Given the description of an element on the screen output the (x, y) to click on. 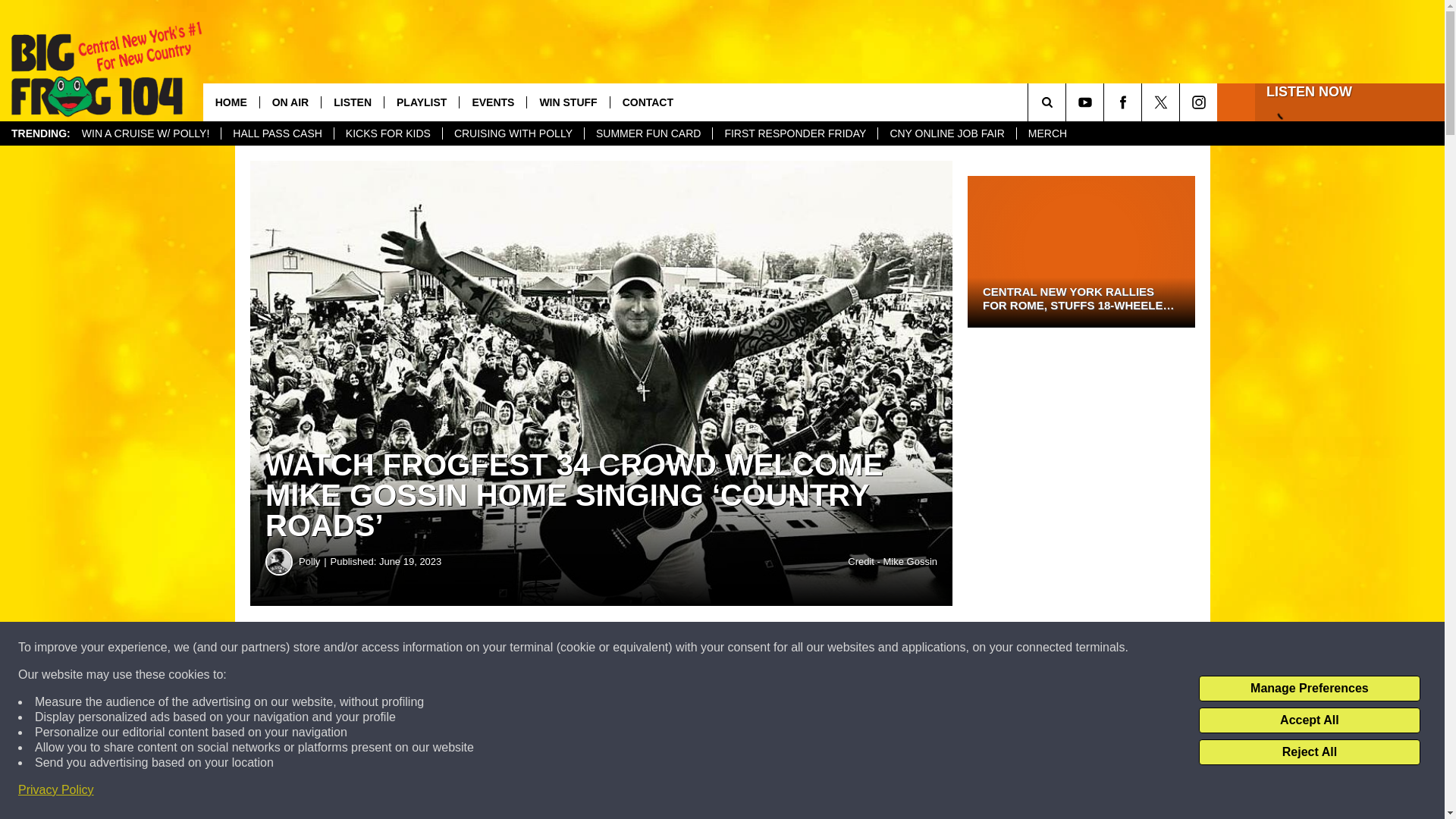
CRUISING WITH POLLY (512, 133)
Manage Preferences (1309, 688)
Privacy Policy (55, 789)
PLAYLIST (421, 102)
Accept All (1309, 720)
Share on Twitter (741, 647)
SEARCH (1068, 102)
CONTACT (647, 102)
EVENTS (491, 102)
SUMMER FUN CARD (647, 133)
